Given the description of an element on the screen output the (x, y) to click on. 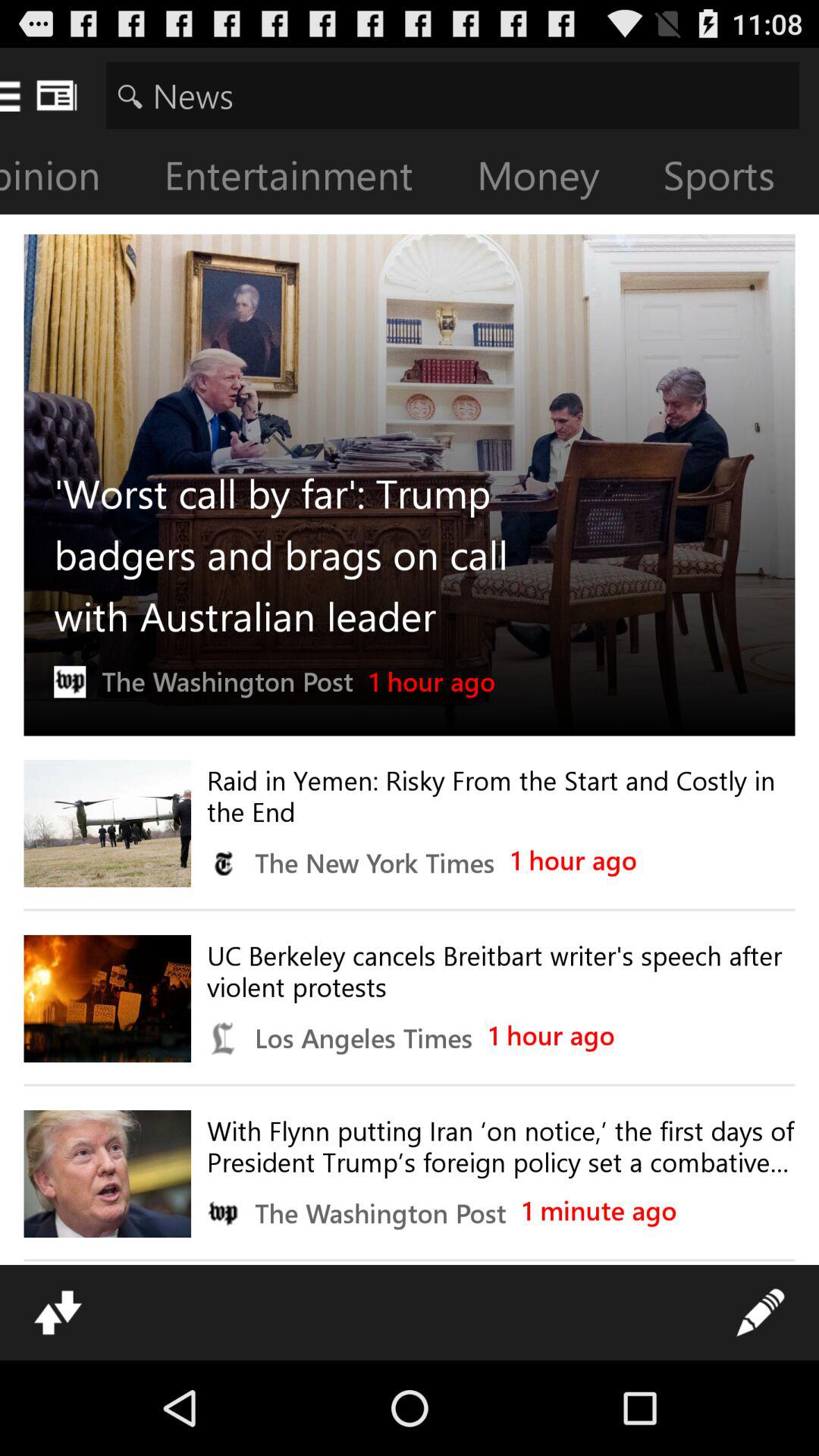
choose item to the left of entertainment icon (72, 178)
